Given the description of an element on the screen output the (x, y) to click on. 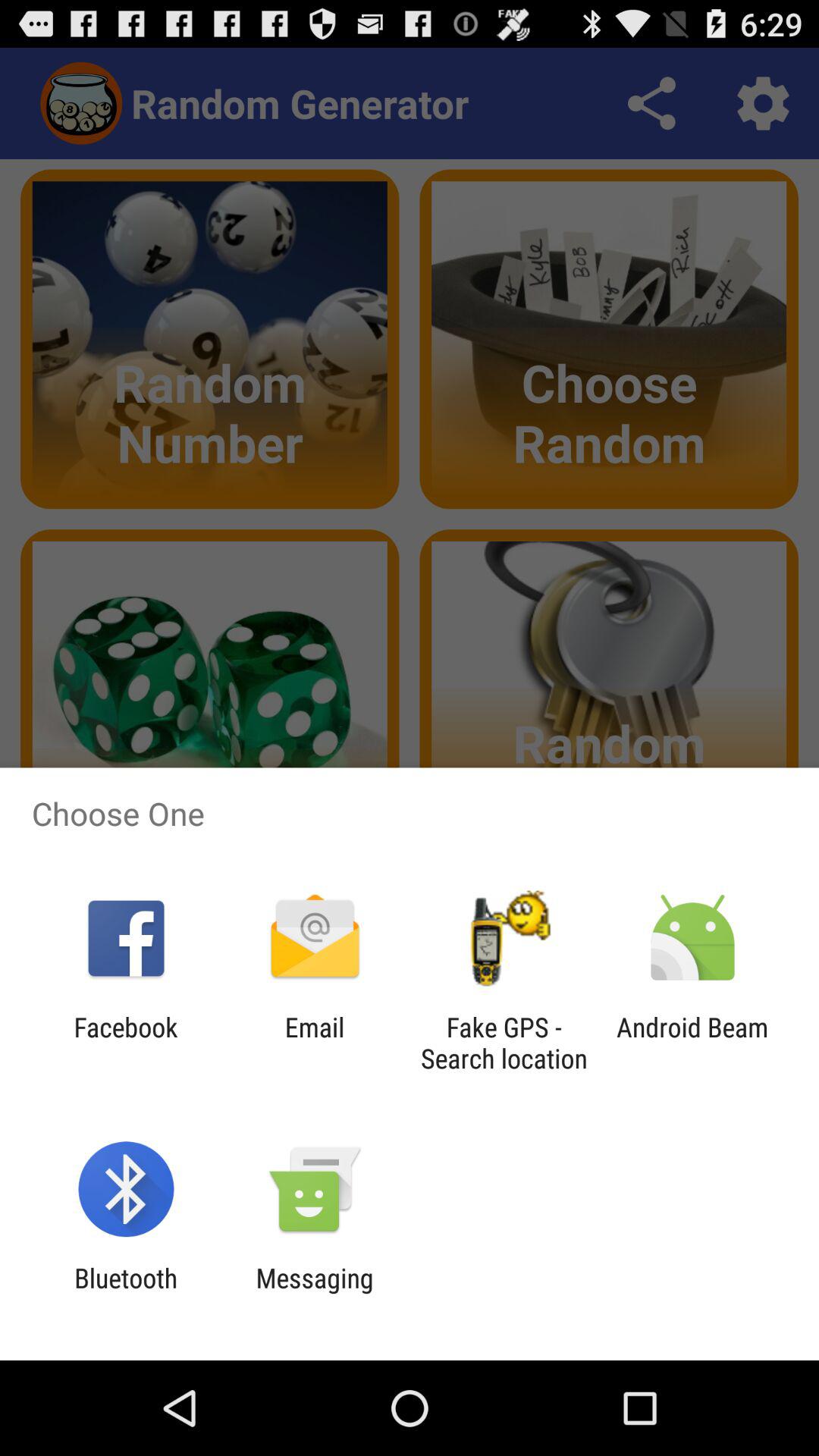
flip to email app (314, 1042)
